Given the description of an element on the screen output the (x, y) to click on. 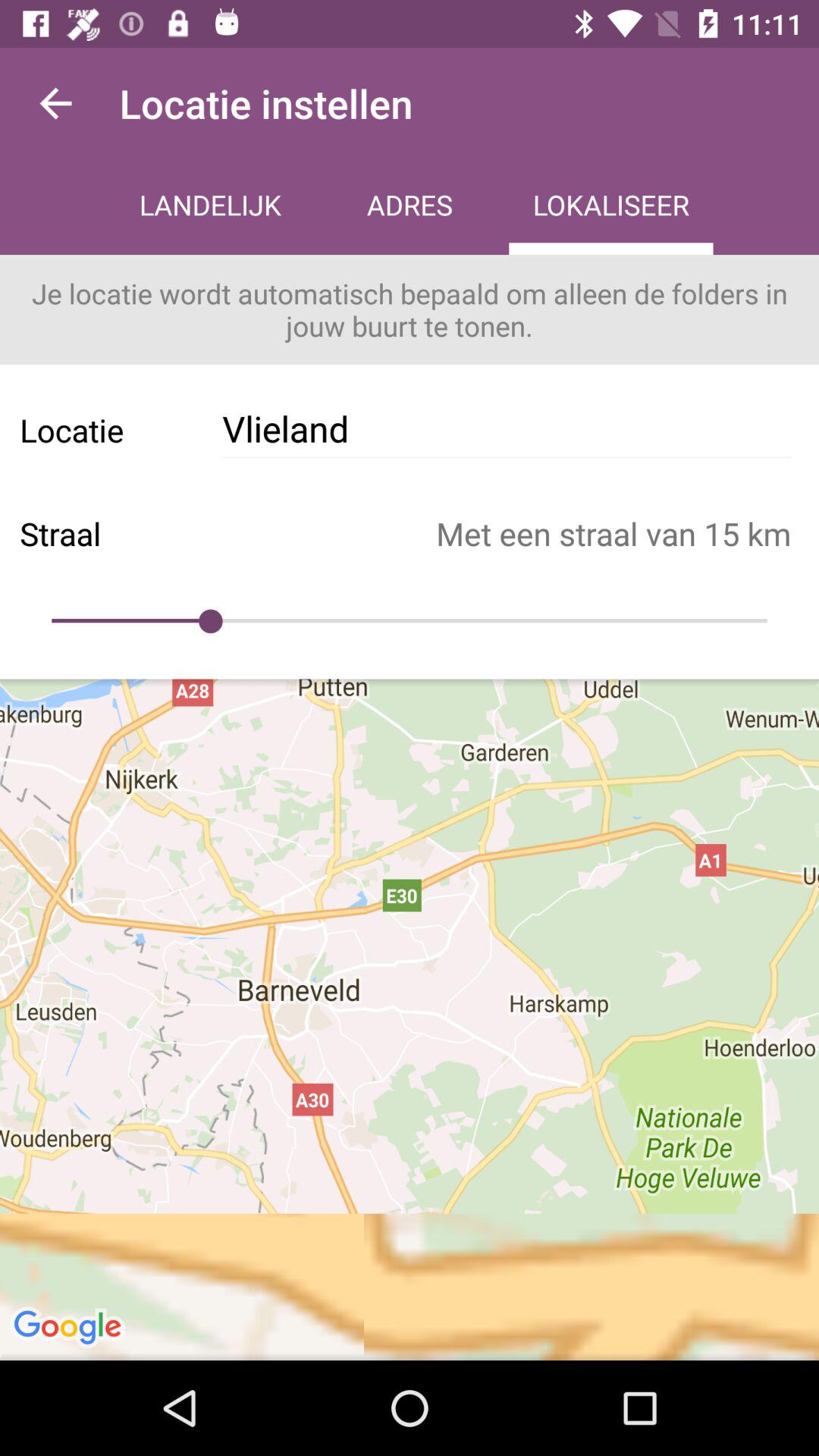
click icon above the je locatie wordt icon (611, 206)
